Given the description of an element on the screen output the (x, y) to click on. 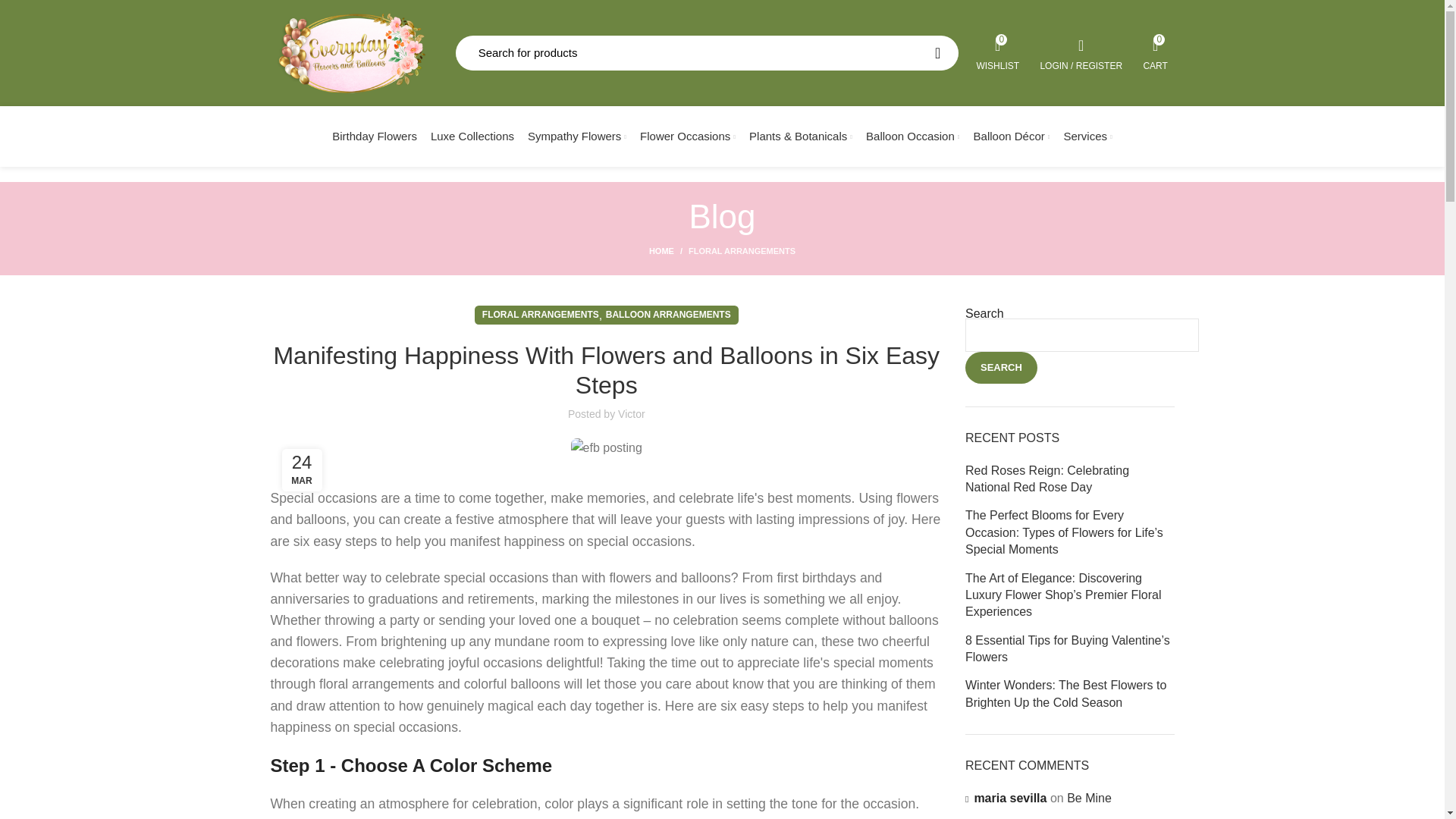
Birthday Flowers (373, 136)
Shopping cart (1155, 52)
Balloon Occasion (1155, 52)
SEARCH (912, 136)
Flower Occasions (997, 52)
My account (937, 53)
Search for products (687, 136)
My Wishlist (1080, 52)
Luxe Collections (706, 53)
Sympathy Flowers (997, 52)
